Given the description of an element on the screen output the (x, y) to click on. 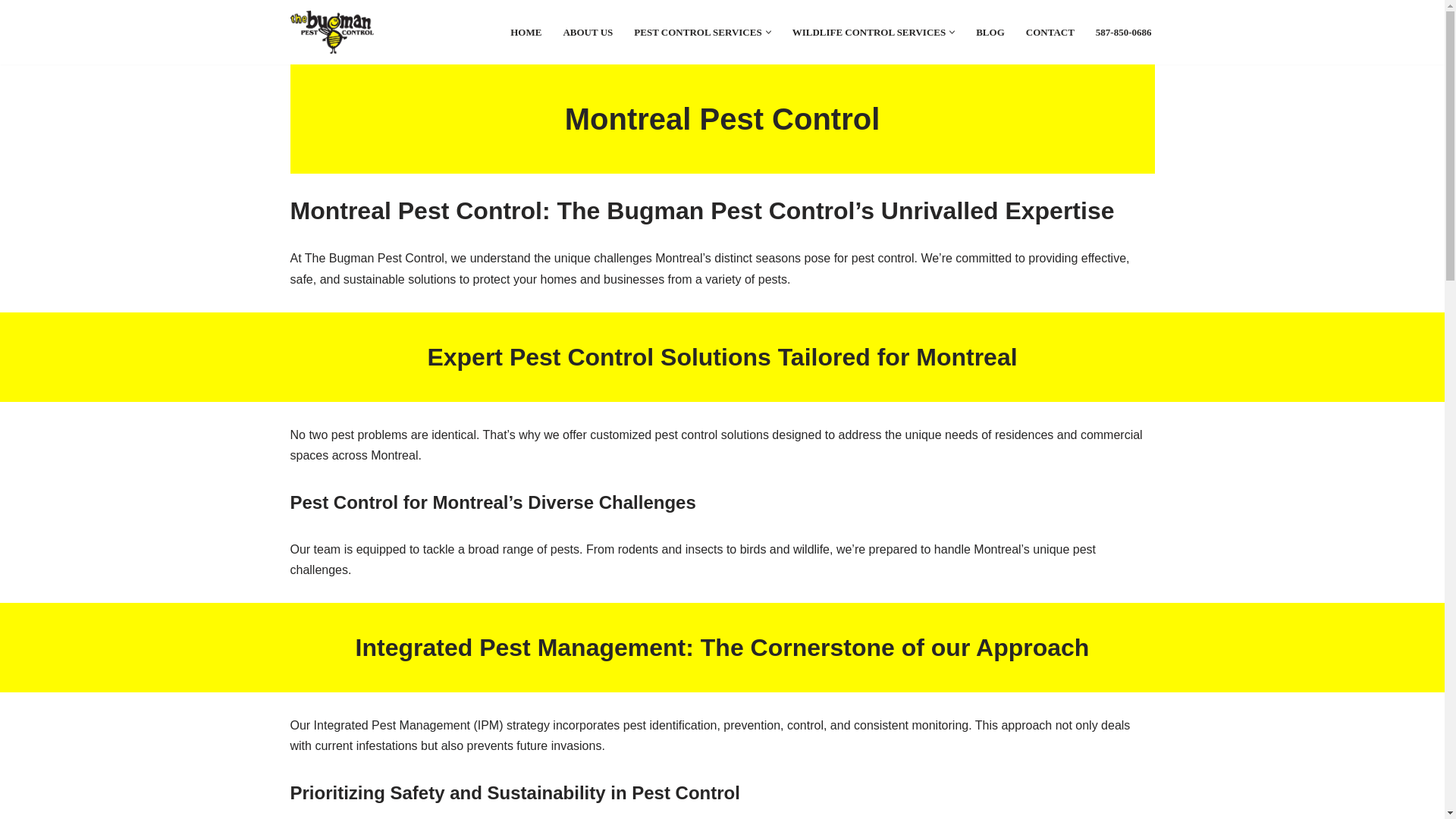
587-850-0686 (1123, 31)
BLOG (989, 31)
ABOUT US (587, 31)
WILDLIFE CONTROL SERVICES (869, 31)
PEST CONTROL SERVICES (697, 31)
HOME (526, 31)
Skip to content (11, 31)
CONTACT (1050, 31)
